Given the description of an element on the screen output the (x, y) to click on. 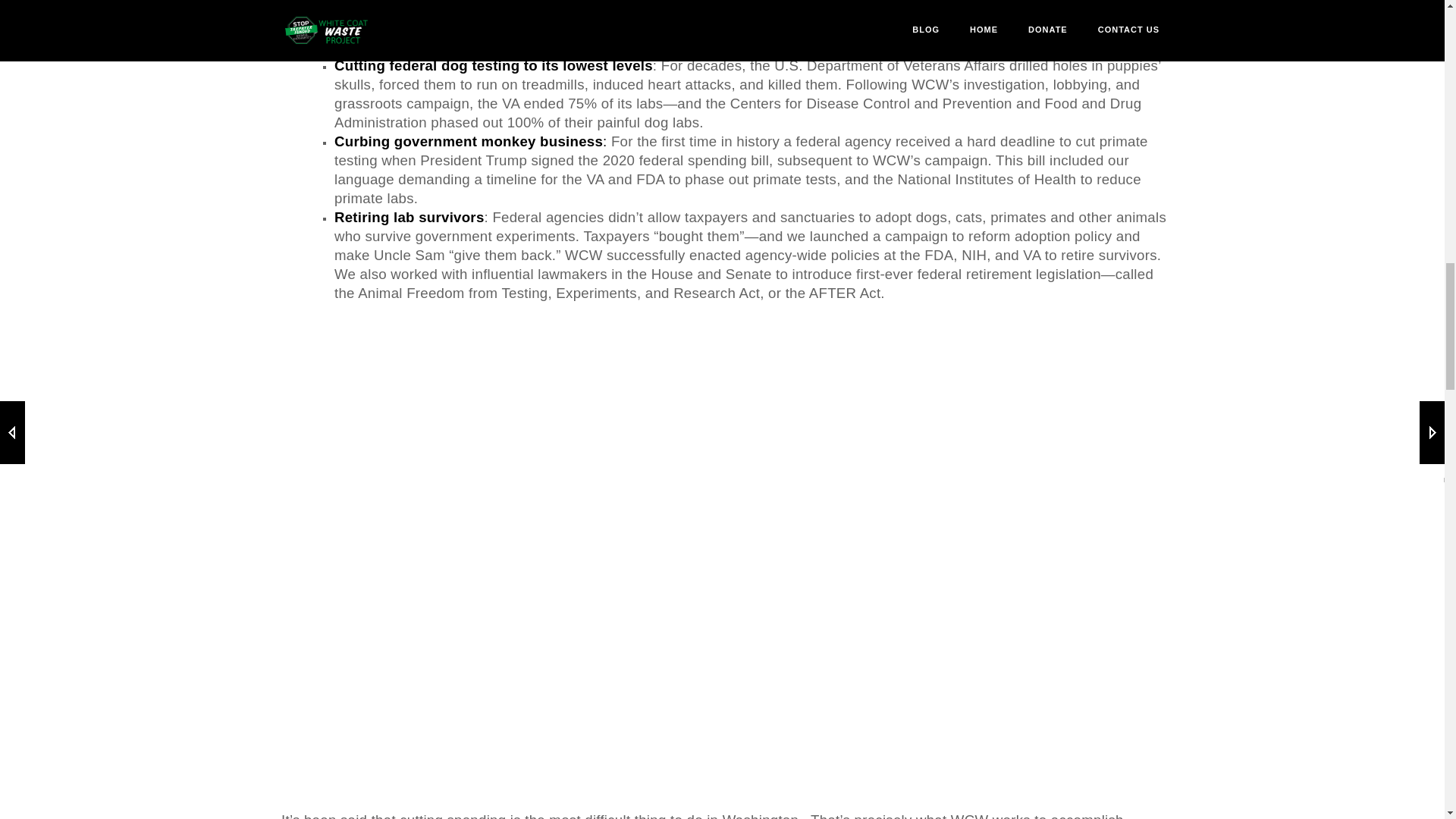
Curbing government monkey business: (470, 141)
Cutting federal dog testing to its lowest levels (493, 65)
Retiring lab survivors (409, 217)
